Given the description of an element on the screen output the (x, y) to click on. 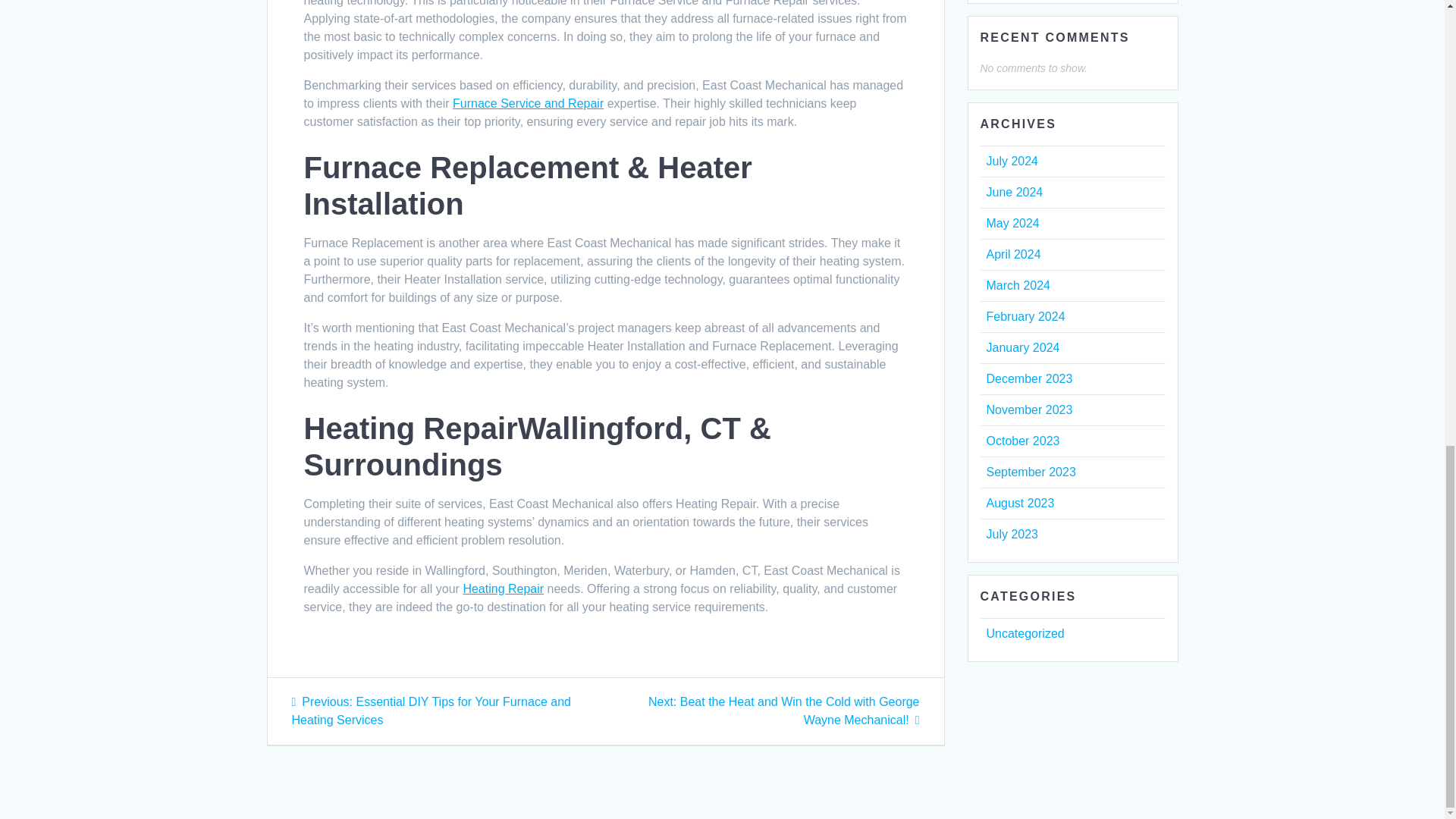
April 2024 (1013, 254)
February 2024 (1024, 316)
October 2023 (1022, 440)
Uncategorized (1024, 633)
August 2023 (1019, 502)
January 2024 (1022, 347)
Heating Repair (503, 588)
July 2023 (1011, 533)
September 2023 (1030, 472)
June 2024 (1013, 192)
November 2023 (1028, 409)
May 2024 (1012, 223)
July 2024 (1011, 160)
